Given the description of an element on the screen output the (x, y) to click on. 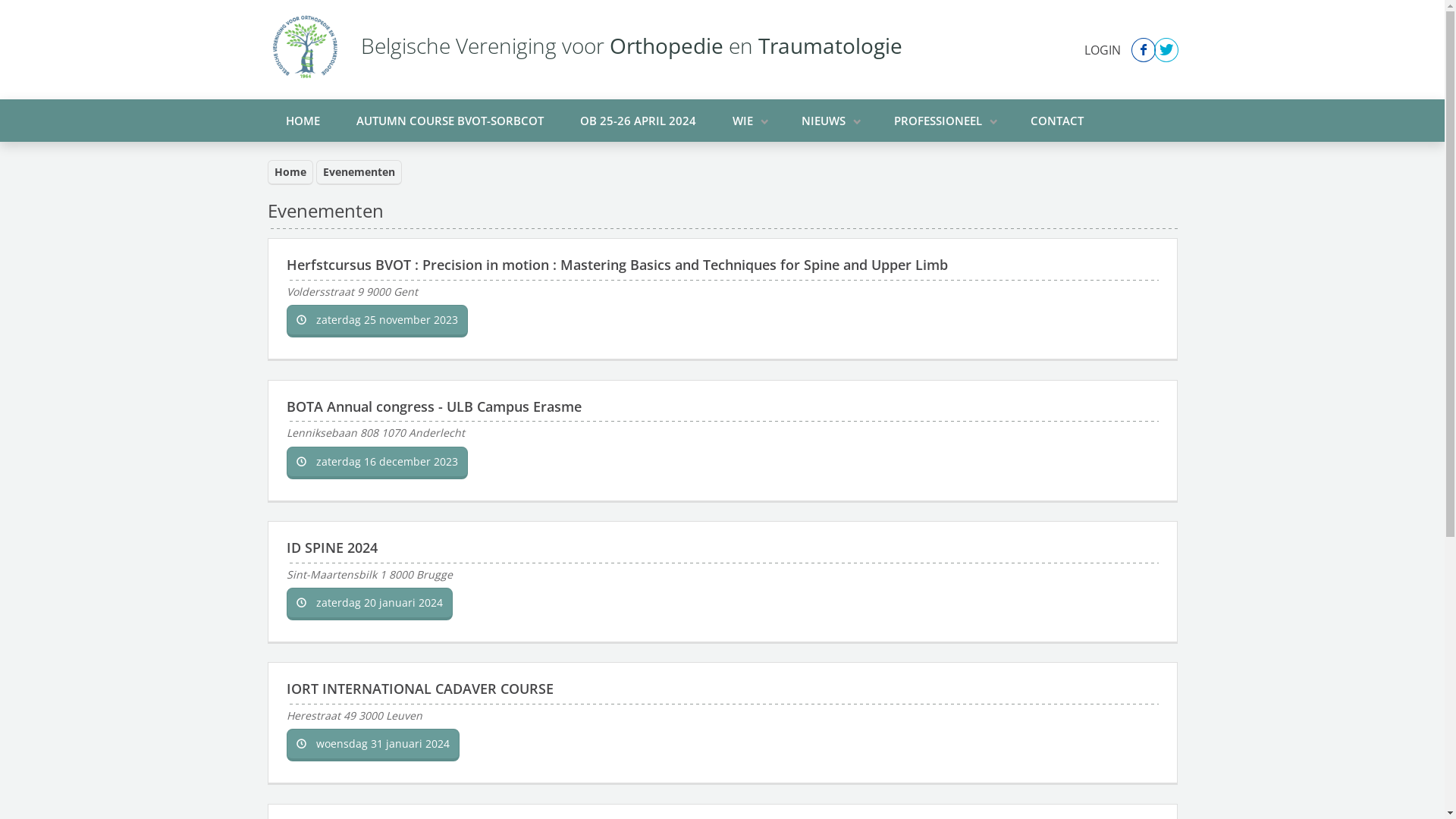
HOME Element type: text (301, 120)
NIEUWS Element type: text (828, 120)
LOGIN Element type: text (1102, 48)
CONTACT Element type: text (1056, 120)
WIE Element type: text (748, 120)
Home Element type: text (289, 172)
FACEBOOK Element type: text (1142, 48)
Home Element type: hover (304, 45)
AUTUMN COURSE BVOT-SORBCOT Element type: text (449, 120)
TWITTER Element type: text (1165, 48)
Belgische Vereniging voor Orthopedie en Traumatologie Element type: text (627, 49)
OB 25-26 APRIL 2024 Element type: text (637, 120)
PROFESSIONEEL Element type: text (943, 120)
